Given the description of an element on the screen output the (x, y) to click on. 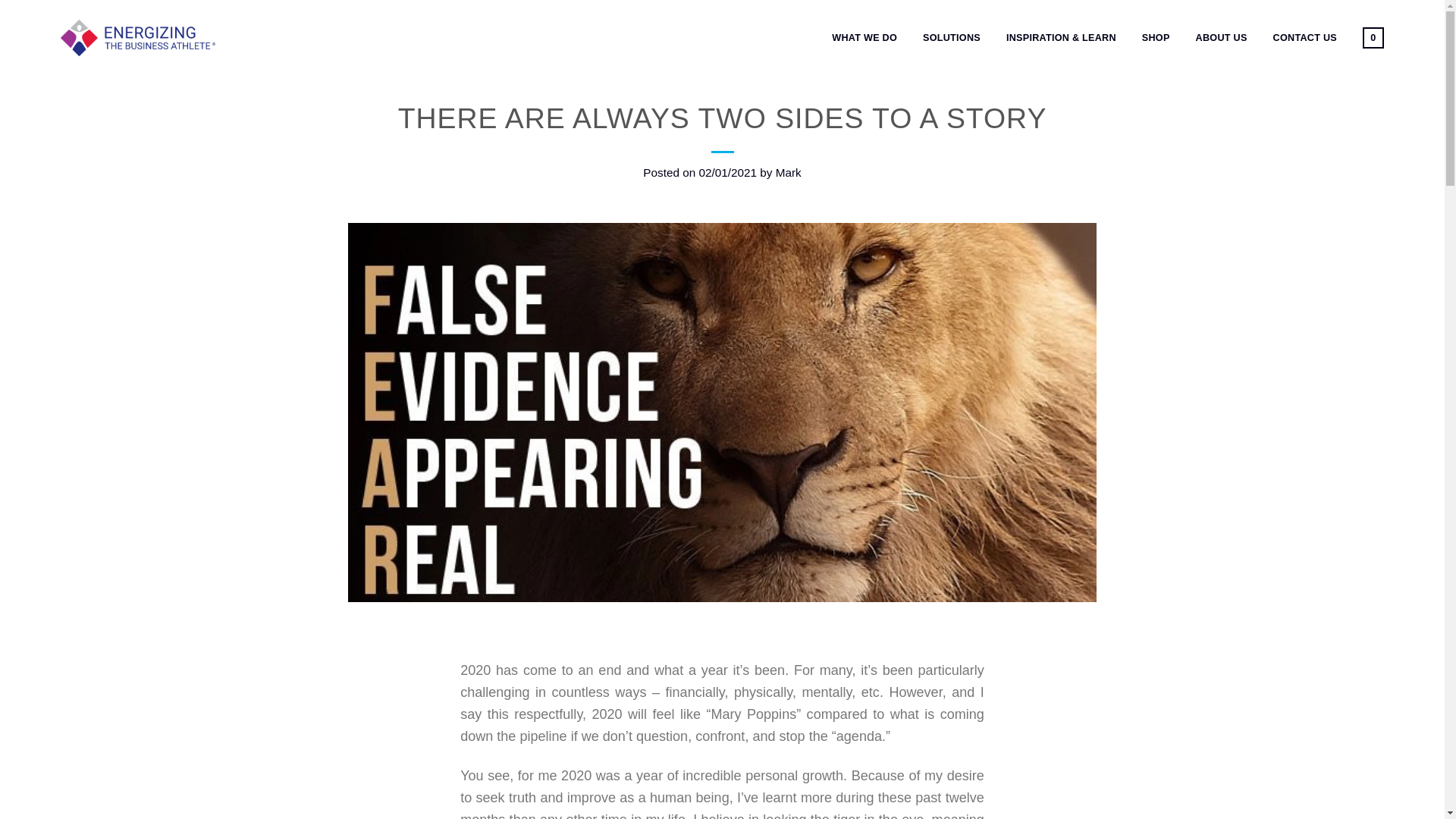
Mark (789, 172)
CONTACT US (1304, 37)
SOLUTIONS (951, 37)
SHOP (1155, 37)
ABOUT US (1221, 37)
WHAT WE DO (863, 37)
